Given the description of an element on the screen output the (x, y) to click on. 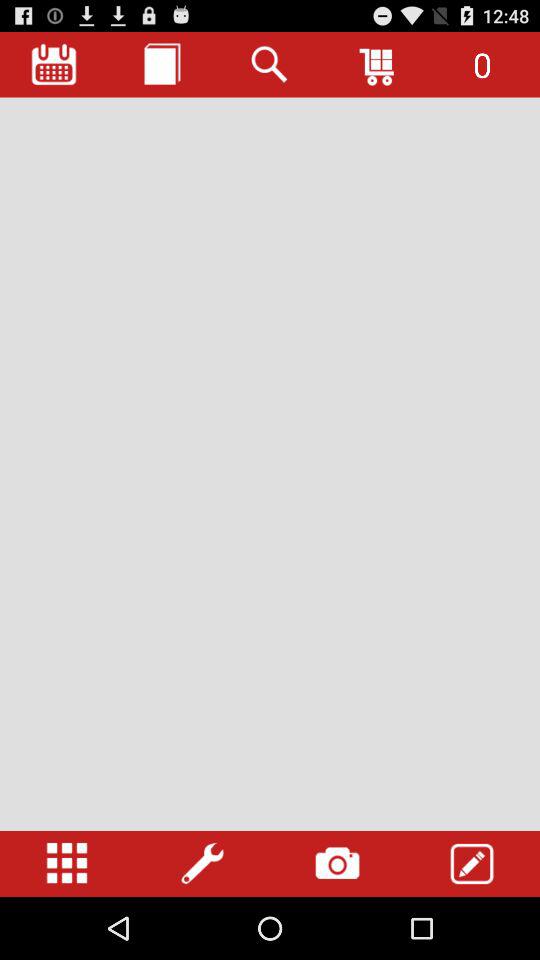
go to shopping cart (377, 64)
